Given the description of an element on the screen output the (x, y) to click on. 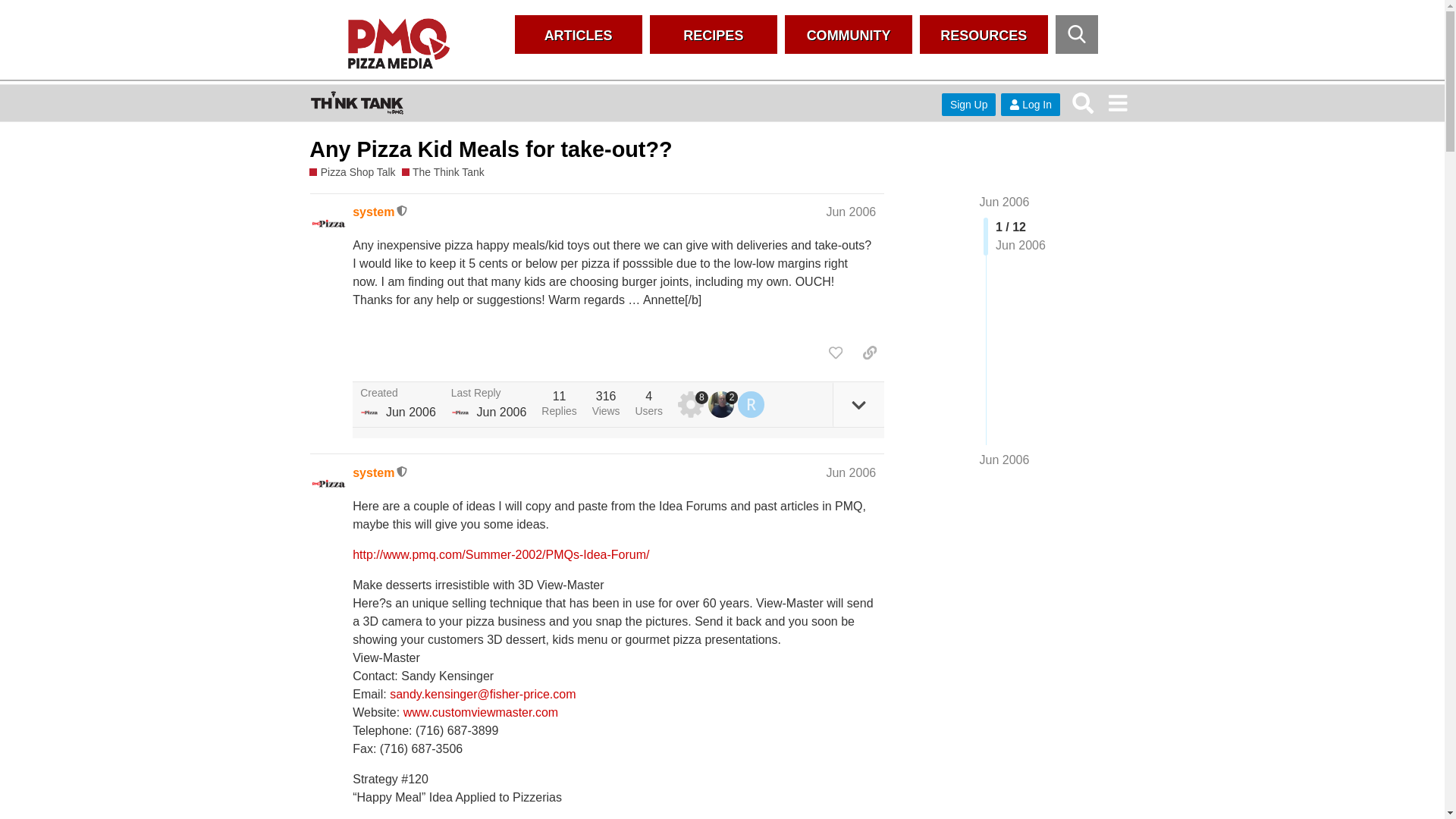
Jun 2006 (1004, 460)
Last Reply (489, 393)
RESOURCES (983, 34)
Log In (1030, 104)
copy a link to this post to clipboard (869, 352)
This user is a moderator (402, 211)
ARTICLES (577, 34)
8 (692, 403)
Pizza Shop Talk (351, 171)
like this post (835, 352)
RECIPES (713, 34)
Jump to the first post (1004, 201)
system (373, 212)
Jun 27, 2006 5:58 pm (500, 411)
Jump to the last post (1004, 459)
